Given the description of an element on the screen output the (x, y) to click on. 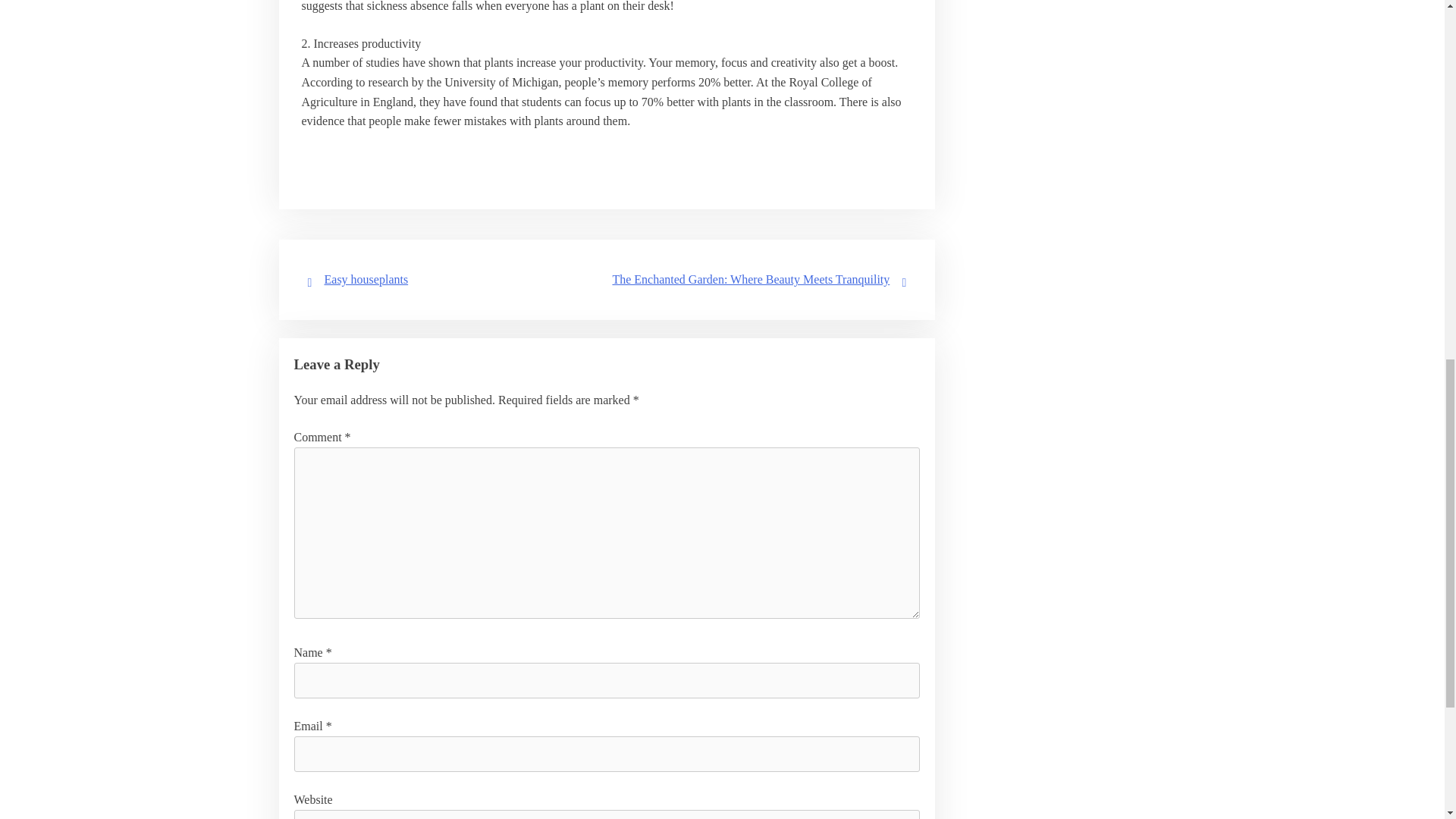
The Enchanted Garden: Where Beauty Meets Tranquility (750, 278)
Easy houseplants (366, 278)
